Given the description of an element on the screen output the (x, y) to click on. 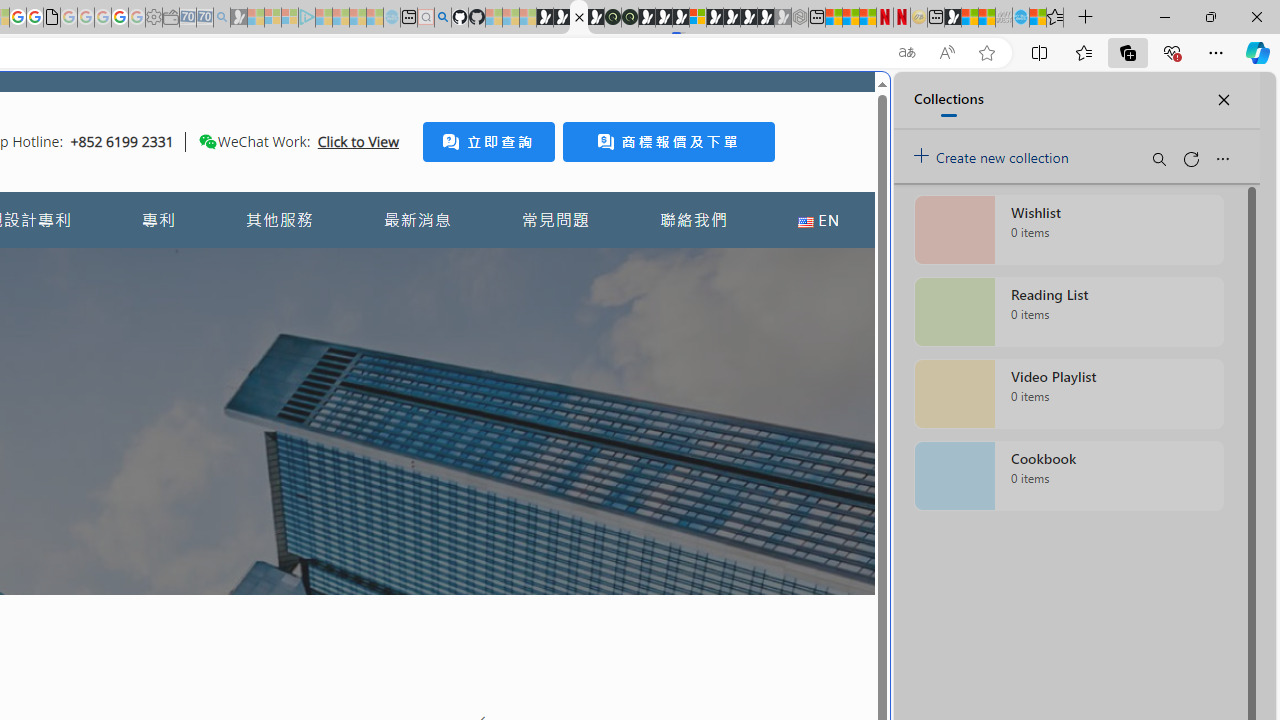
Settings - Sleeping (153, 17)
Wallet - Sleeping (170, 17)
Earth has six continents not seven, radical new study claims (986, 17)
Play Cave FRVR in your browser | Games from Microsoft Start (663, 17)
Close split screen (844, 102)
Services - Maintenance | Sky Blue Bikes - Sky Blue Bikes (1020, 17)
